Given the description of an element on the screen output the (x, y) to click on. 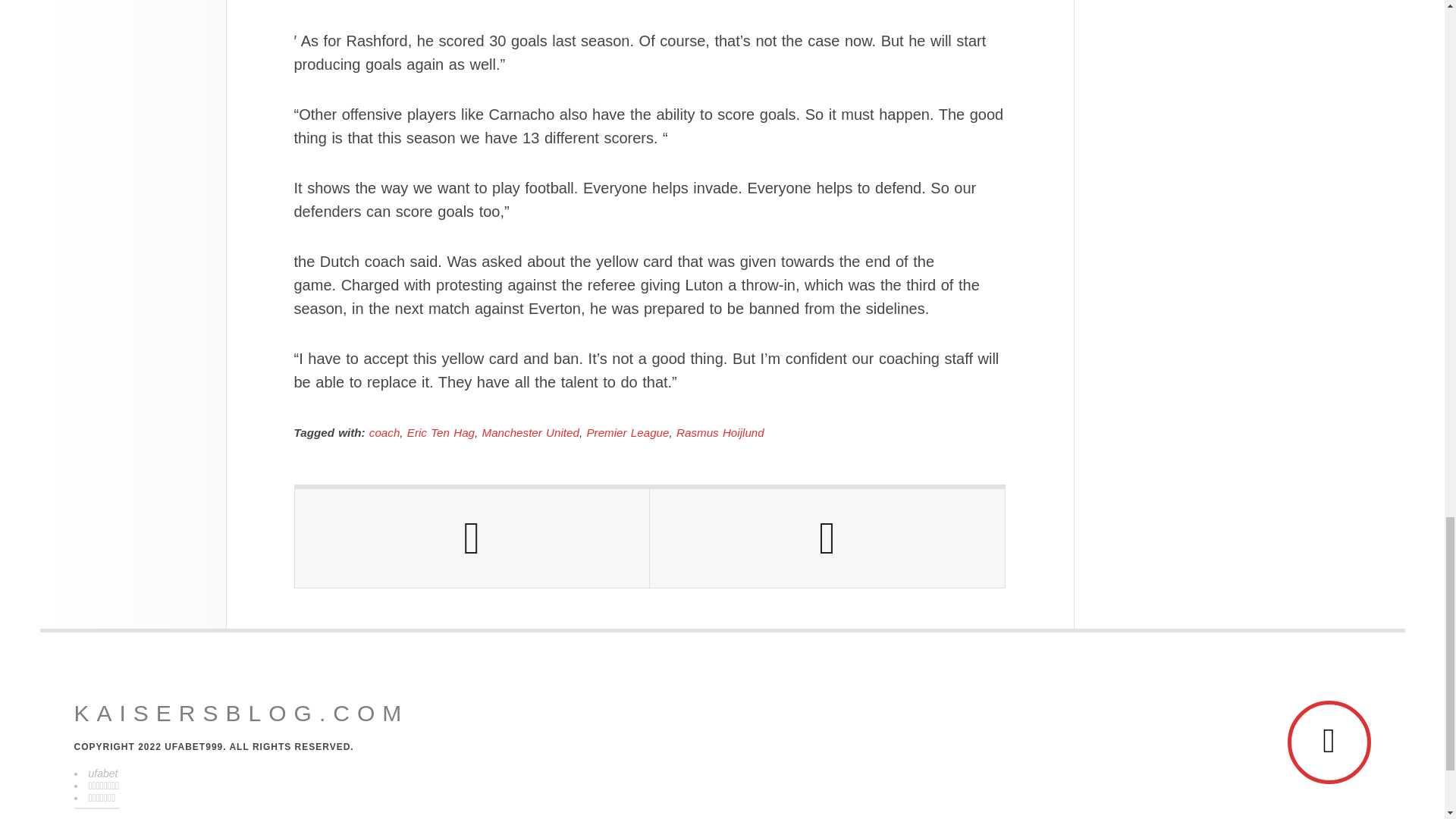
coach (384, 431)
Manchester United (530, 431)
Next Post (826, 538)
kaisersblog (241, 713)
Rasmus Hoijlund (720, 431)
Eric Ten Hag (440, 431)
Previous Post (471, 538)
Premier League (627, 431)
